Given the description of an element on the screen output the (x, y) to click on. 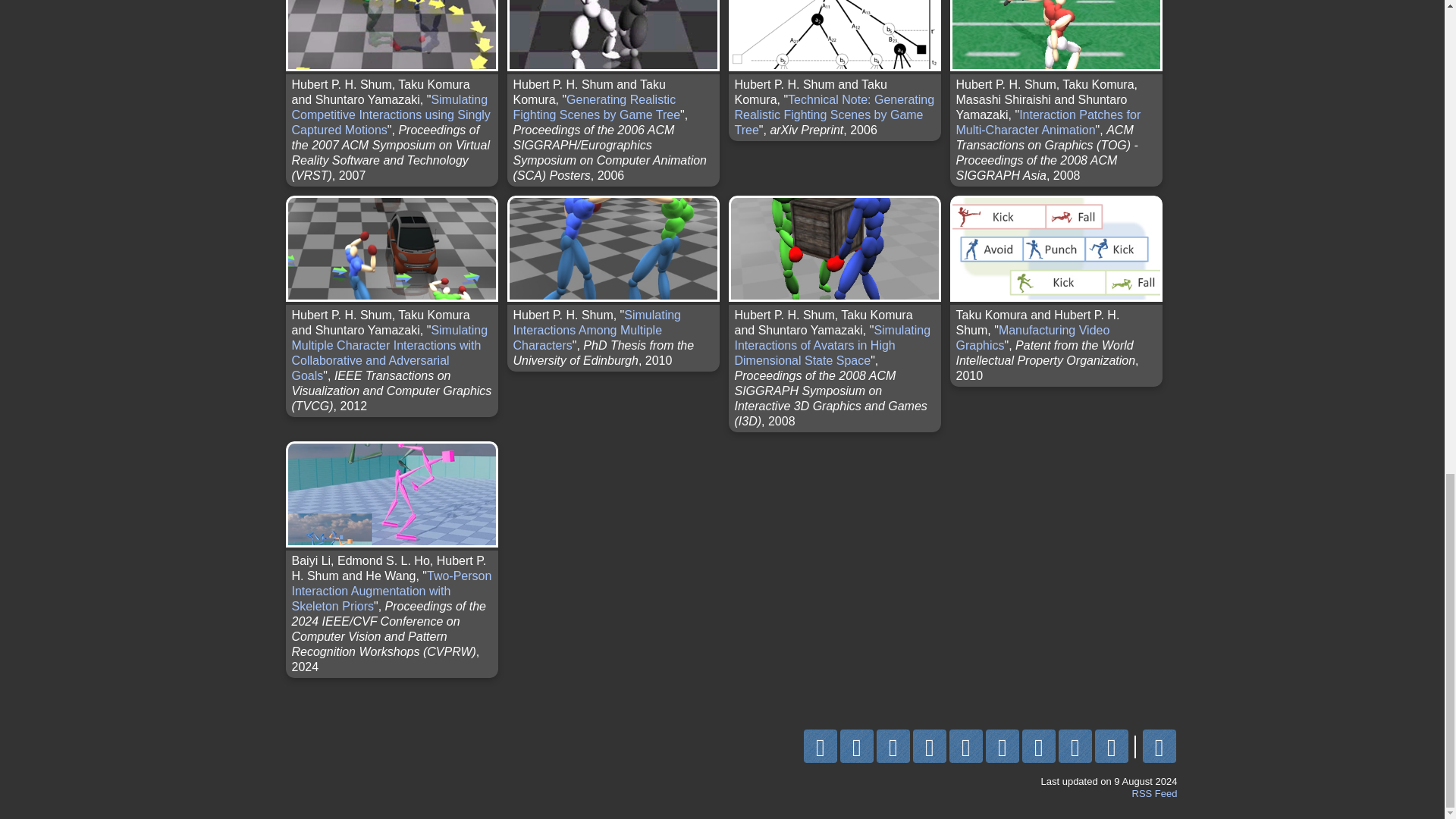
Generating Realistic Fighting Scenes by Game Tree (595, 107)
Interaction Patches for Multi-Character Animation (1047, 122)
Simulating Interactions Among Multiple Characters (595, 330)
